Given the description of an element on the screen output the (x, y) to click on. 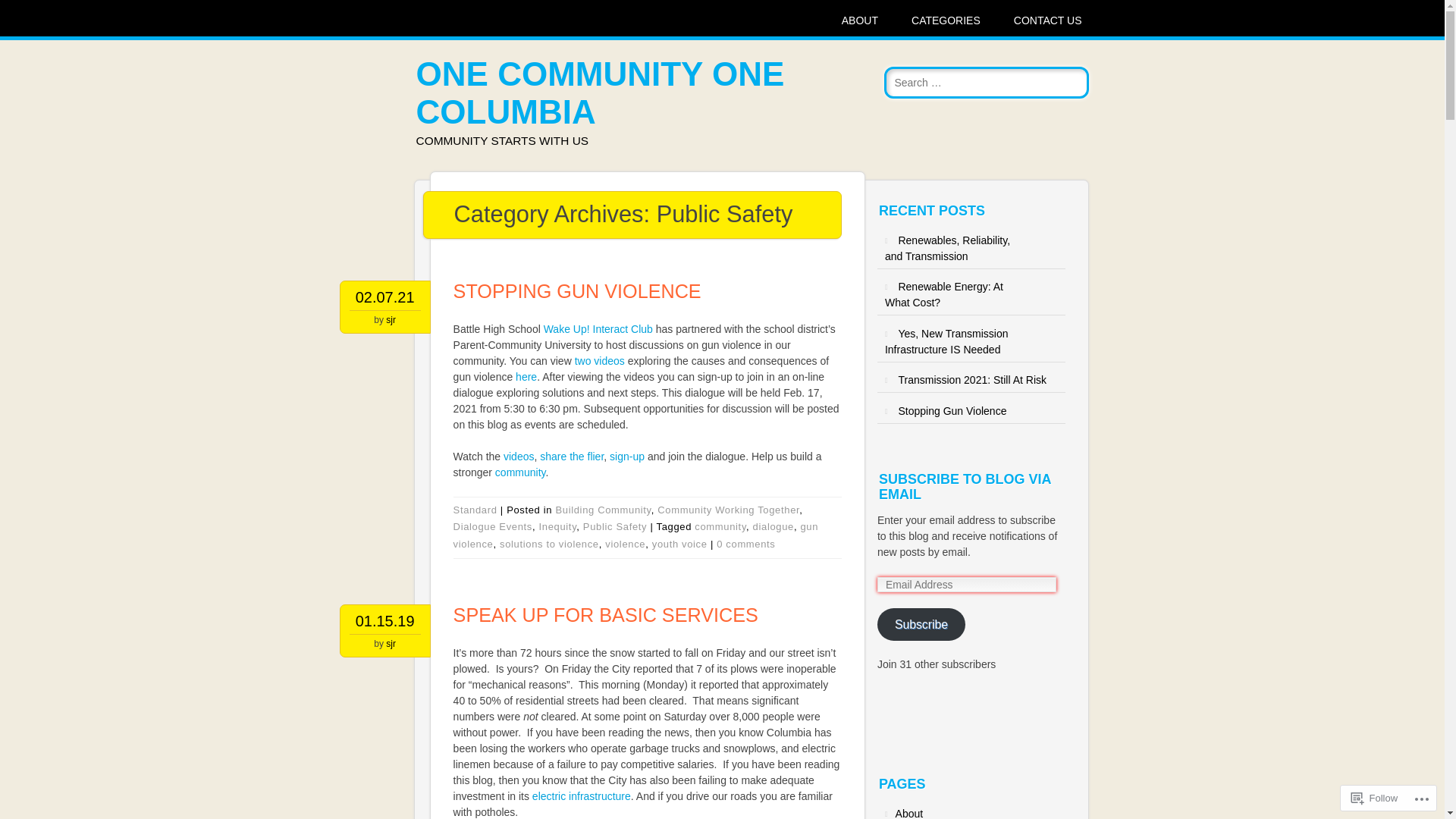
CONTACT US Element type: text (1047, 20)
Renewable Energy: At What Cost? Element type: text (943, 294)
electric infrastructure Element type: text (581, 796)
Yes, New Transmission Infrastructure IS Needed Element type: text (946, 341)
Dialogue Events Element type: text (492, 526)
ABOUT Element type: text (859, 20)
Transmission 2021: Still At Risk Element type: text (971, 379)
two videos Element type: text (597, 360)
CATEGORIES Element type: text (945, 20)
here Element type: text (524, 376)
0 comments Element type: text (745, 543)
community Element type: text (720, 526)
Community Working Together Element type: text (728, 509)
ONE COMMUNITY ONE COLUMBIA Element type: text (600, 92)
Public Safety Element type: text (614, 526)
Building Community Element type: text (602, 509)
SPEAK UP FOR BASIC SERVICES Element type: text (605, 614)
community Element type: text (520, 472)
Follow Element type: text (1374, 797)
Search Element type: text (28, 14)
Wake Up! Interact Club Element type: text (597, 329)
02.07.21 Element type: text (384, 296)
01.15.19 Element type: text (384, 620)
sjr Element type: text (390, 643)
solutions to violence Element type: text (549, 543)
share the flier Element type: text (571, 456)
Subscribe Element type: text (921, 624)
dialogue Element type: text (773, 526)
SKIP TO CONTENT Element type: text (388, 20)
sjr Element type: text (390, 319)
sign-up Element type: text (626, 456)
Stopping Gun Violence Element type: text (951, 410)
Follow Button Element type: hover (971, 722)
youth voice Element type: text (679, 543)
Standard Element type: text (475, 509)
Inequity Element type: text (558, 526)
STOPPING GUN VIOLENCE Element type: text (577, 290)
gun violence Element type: text (636, 534)
violence Element type: text (625, 543)
videos Element type: text (516, 456)
Renewables, Reliability, and Transmission Element type: text (947, 248)
